Given the description of an element on the screen output the (x, y) to click on. 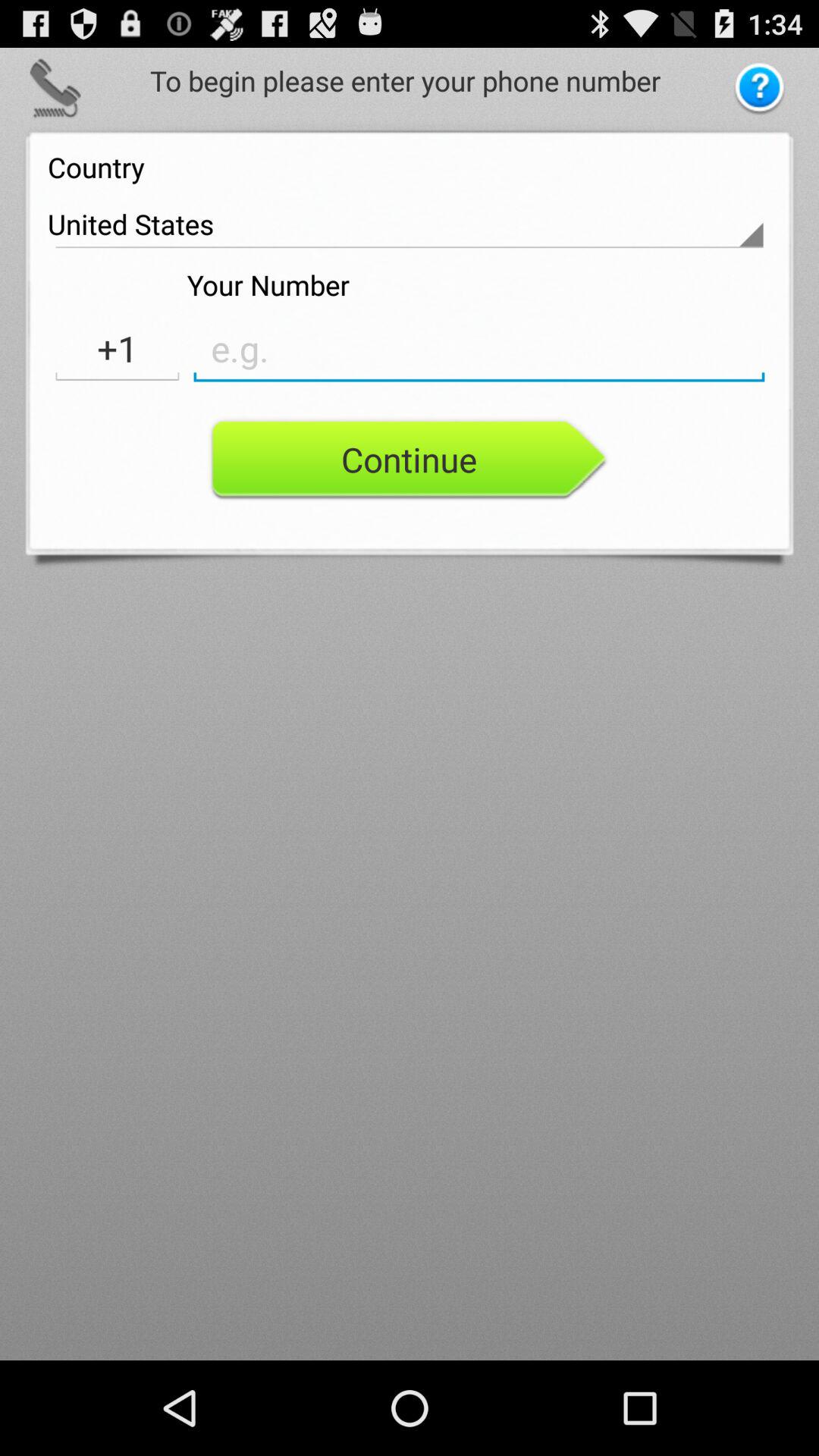
fill in box for phone number (479, 348)
